Given the description of an element on the screen output the (x, y) to click on. 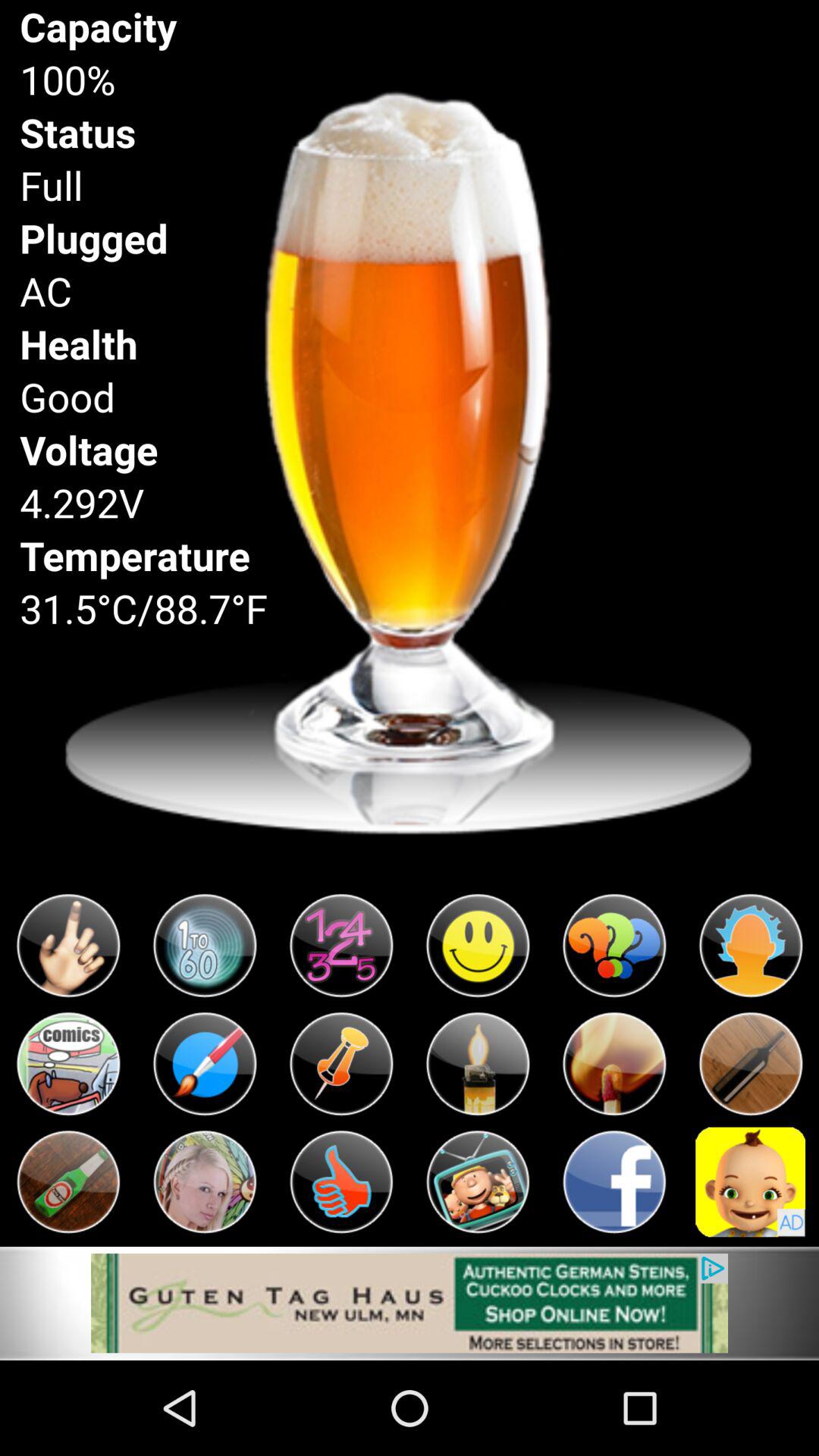
select finger emoji (68, 945)
